Given the description of an element on the screen output the (x, y) to click on. 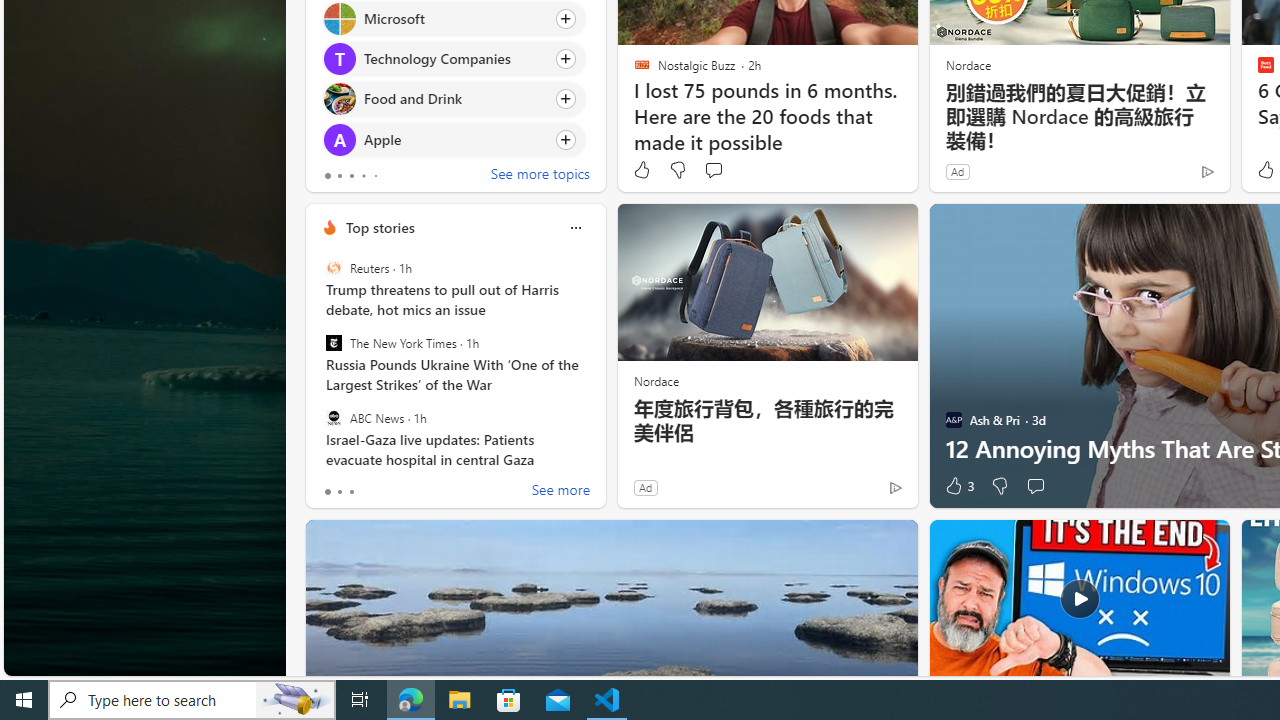
3 Like (957, 485)
Food and Drink (338, 98)
Top stories (379, 227)
Like (641, 170)
Reuters (333, 268)
Microsoft (338, 18)
Ad Choice (895, 487)
Click to follow topic Technology Companies (453, 59)
